Given the description of an element on the screen output the (x, y) to click on. 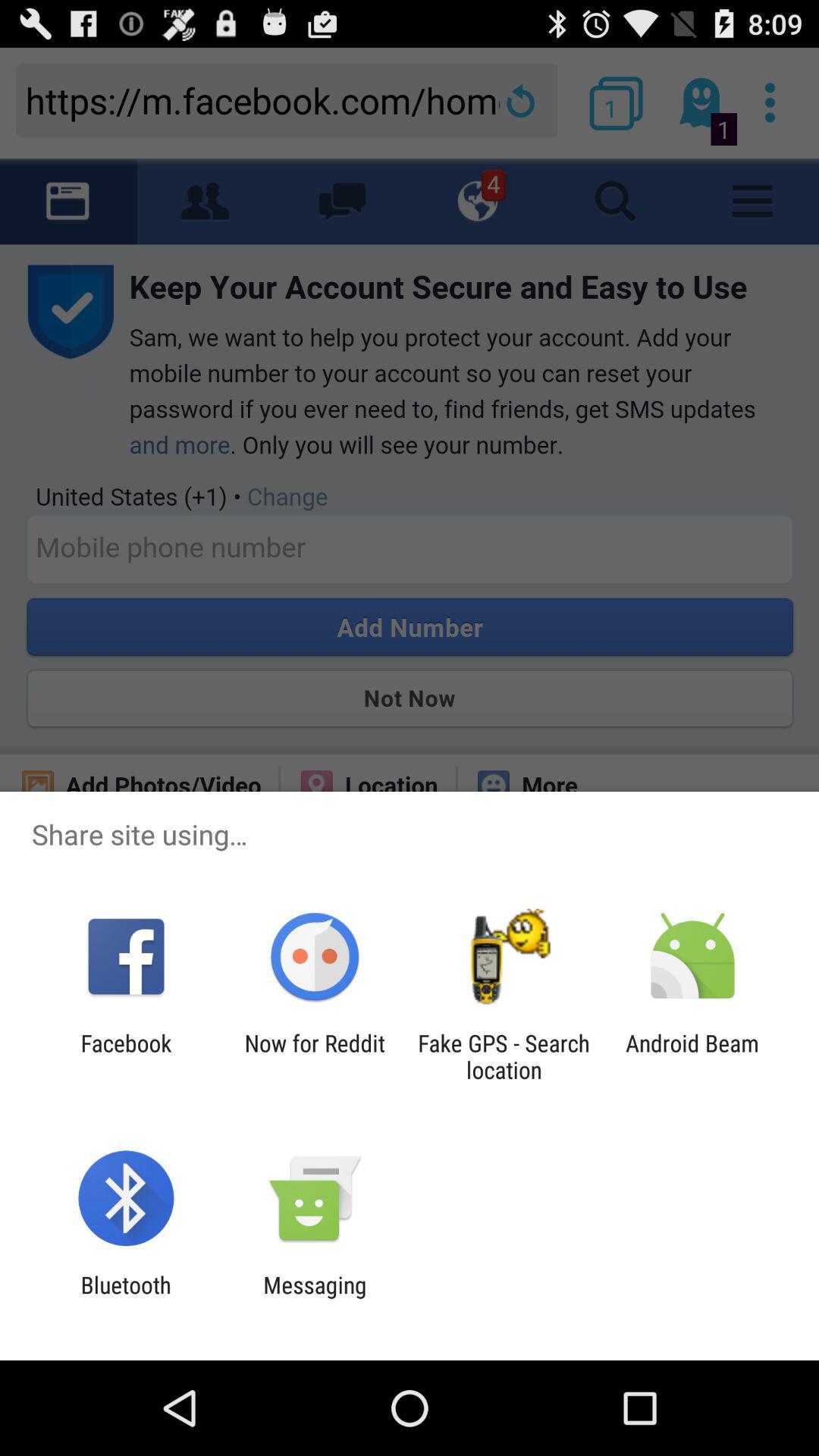
select the item to the left of fake gps search icon (314, 1056)
